Given the description of an element on the screen output the (x, y) to click on. 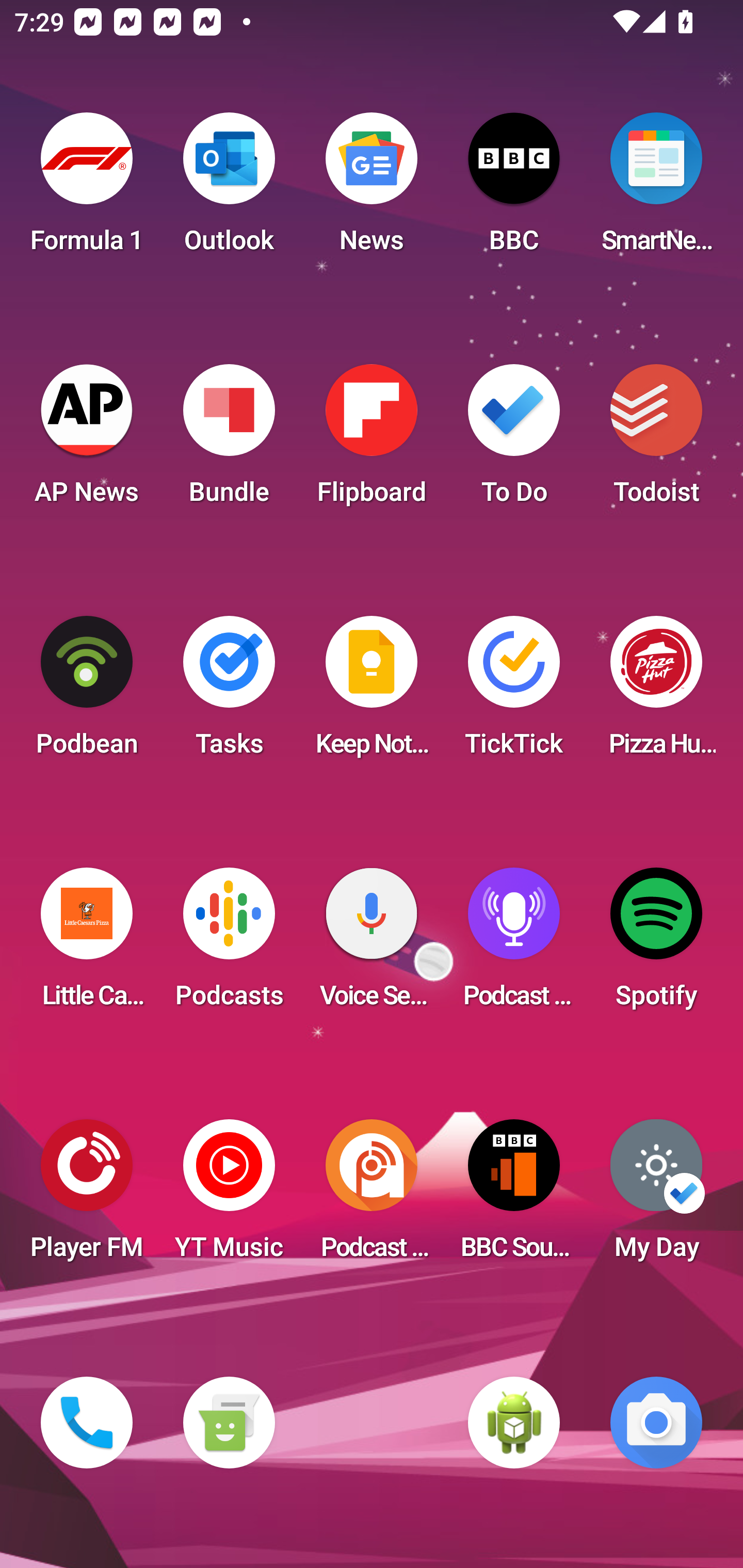
Formula 1 (86, 188)
Outlook (228, 188)
News (371, 188)
BBC (513, 188)
SmartNews (656, 188)
AP News (86, 440)
Bundle (228, 440)
Flipboard (371, 440)
To Do (513, 440)
Todoist (656, 440)
Podbean (86, 692)
Tasks (228, 692)
Keep Notes (371, 692)
TickTick (513, 692)
Pizza Hut HK & Macau (656, 692)
Little Caesars Pizza (86, 943)
Podcasts (228, 943)
Voice Search (371, 943)
Podcast Player (513, 943)
Spotify (656, 943)
Player FM (86, 1195)
YT Music (228, 1195)
Podcast Addict (371, 1195)
BBC Sounds (513, 1195)
My Day (656, 1195)
Phone (86, 1422)
Messaging (228, 1422)
WebView Browser Tester (513, 1422)
Camera (656, 1422)
